Given the description of an element on the screen output the (x, y) to click on. 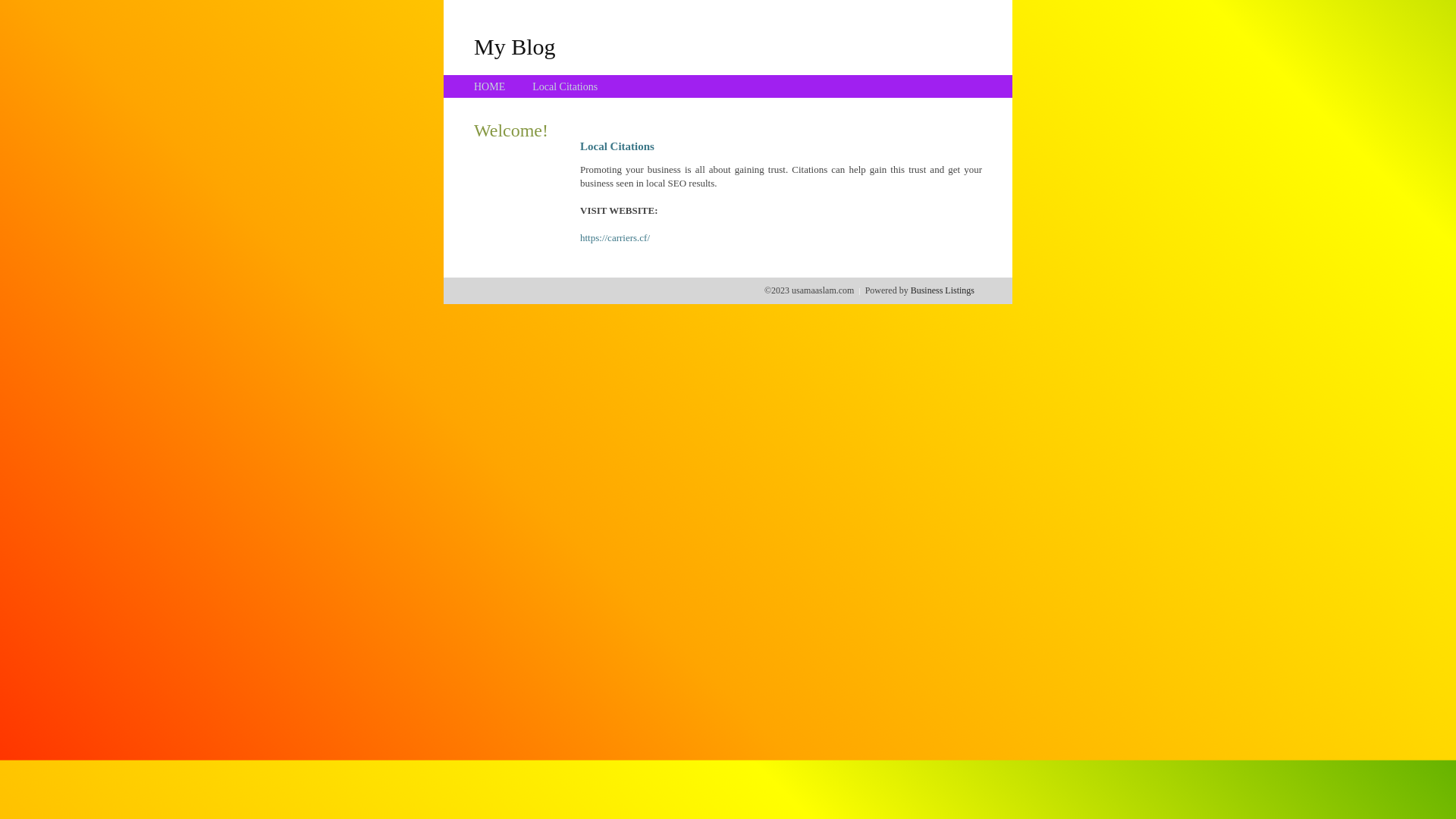
Local Citations Element type: text (564, 86)
https://carriers.cf/ Element type: text (614, 237)
HOME Element type: text (489, 86)
Business Listings Element type: text (942, 290)
My Blog Element type: text (514, 46)
